Given the description of an element on the screen output the (x, y) to click on. 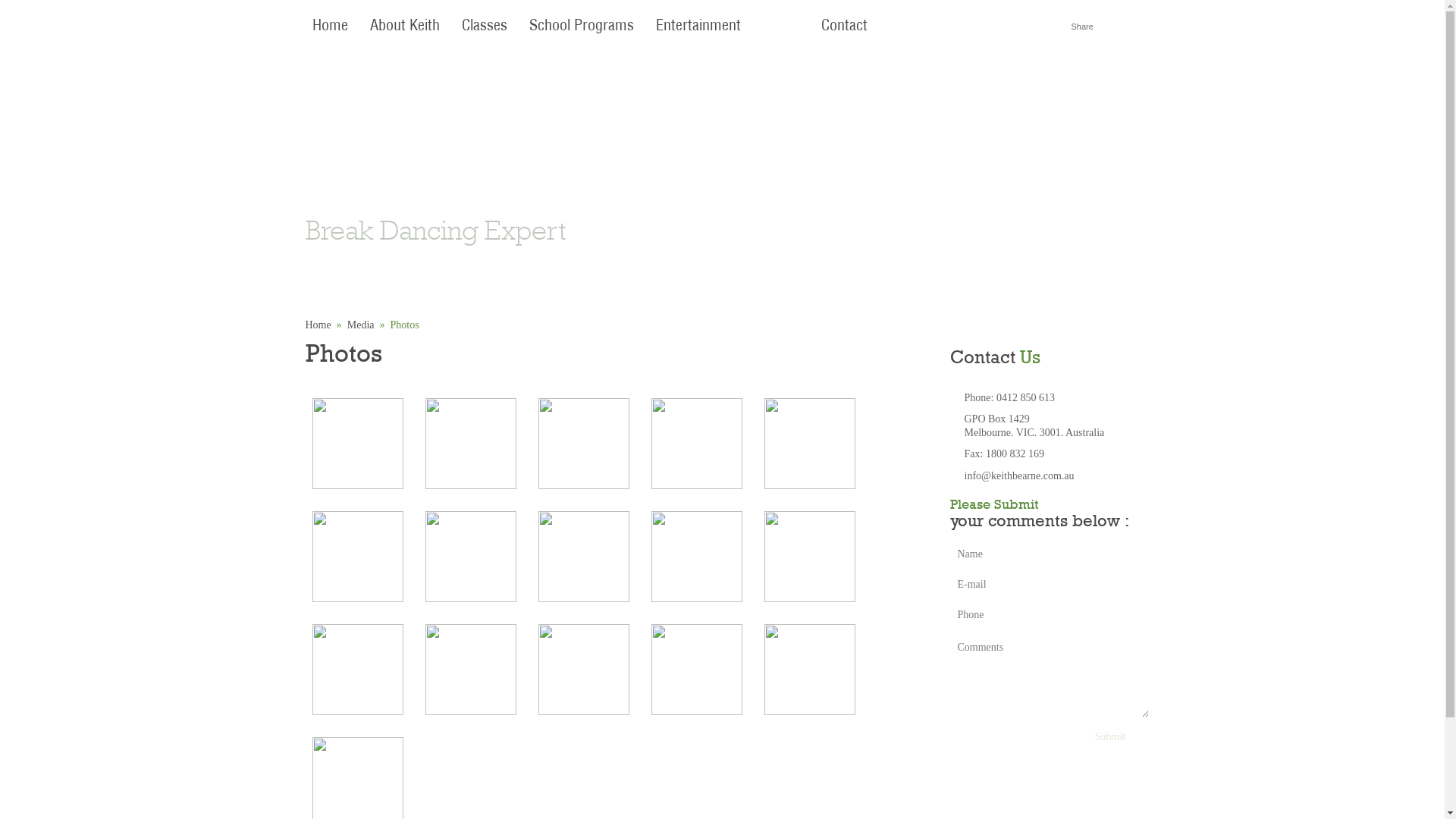
About Keith Element type: text (403, 25)
Home Element type: text (317, 324)
School Programs Element type: text (580, 25)
Share Element type: text (1081, 26)
Contact Element type: text (844, 25)
info@keithbearne.com.au Element type: text (1019, 475)
Submit Element type: text (1110, 737)
Classes Element type: text (484, 25)
Media Element type: text (360, 324)
Entertainment Element type: text (698, 25)
Media Element type: text (780, 25)
Home Element type: text (329, 25)
